Given the description of an element on the screen output the (x, y) to click on. 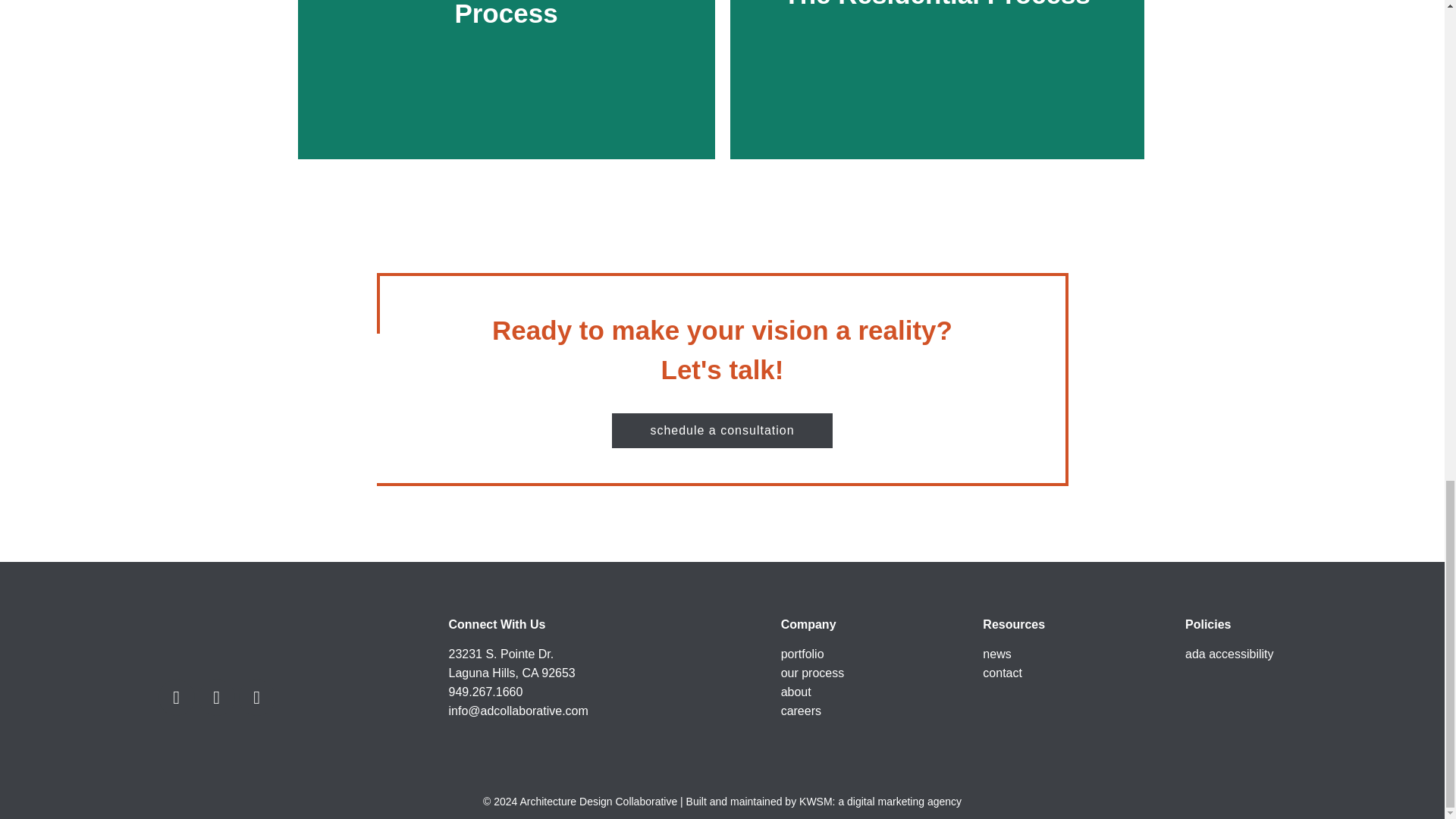
news (996, 653)
KWSM: a digital marketing agency (879, 801)
949.267.1660 (485, 691)
portfolio (802, 653)
about (795, 691)
ada accessibility (1229, 653)
contact (1002, 672)
our process (812, 672)
careers (800, 710)
schedule a consultation (721, 430)
